Given the description of an element on the screen output the (x, y) to click on. 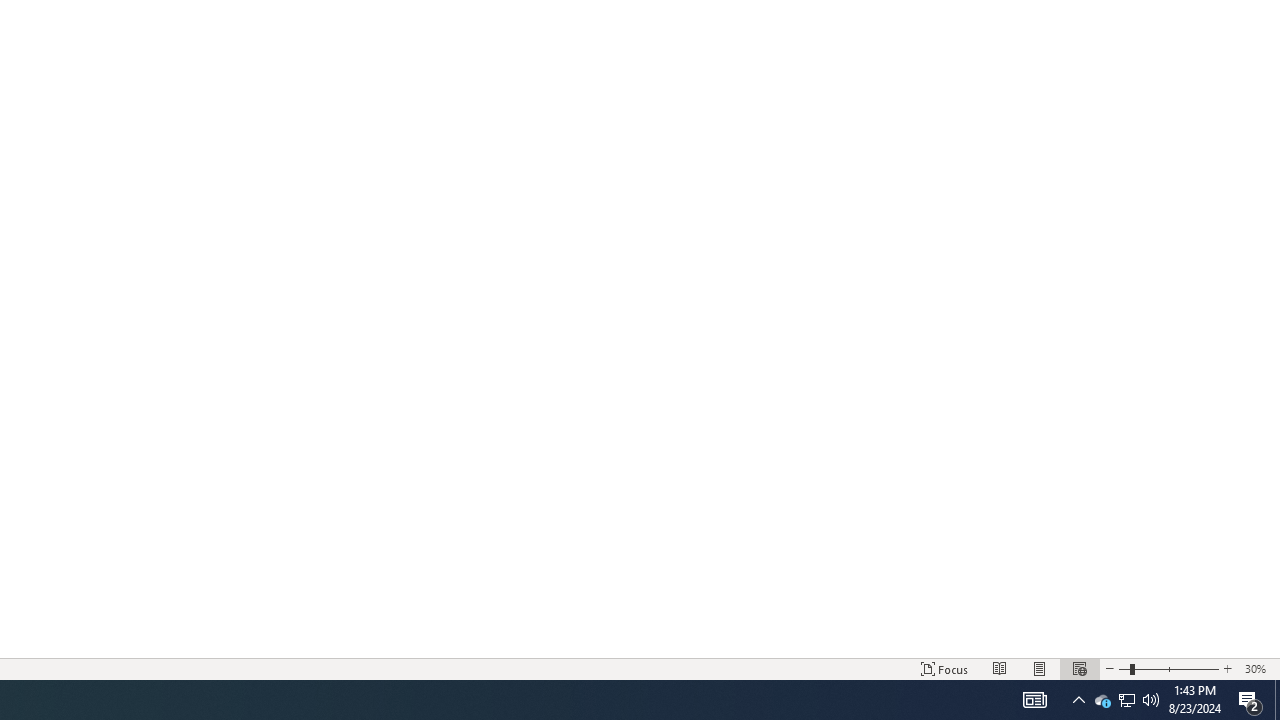
Zoom 30% (1258, 668)
